Given the description of an element on the screen output the (x, y) to click on. 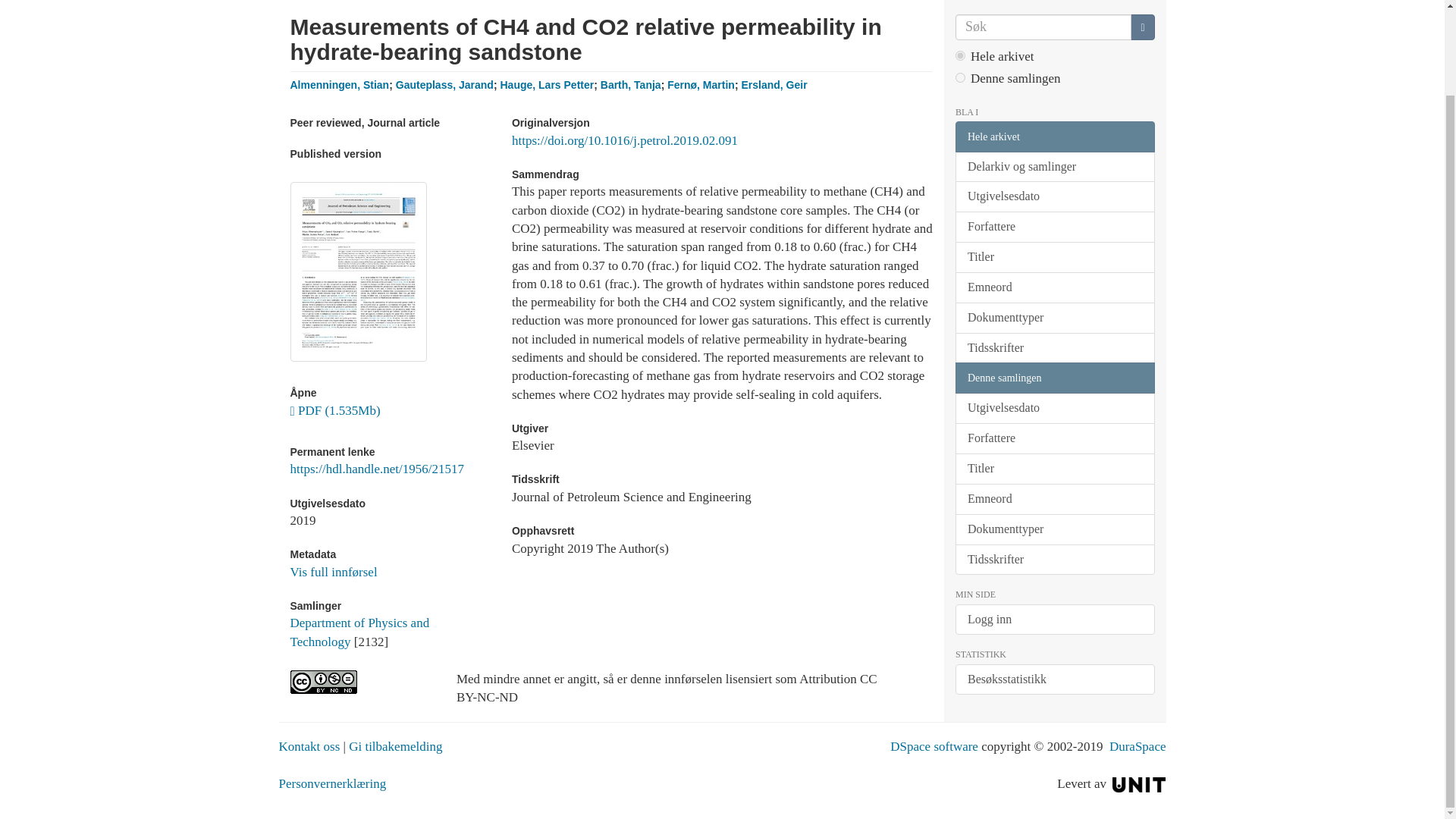
Barth, Tanja (630, 84)
Almenningen, Stian (338, 84)
Ersland, Geir (773, 84)
Department of Physics and Technology (359, 631)
Hauge, Lars Petter (546, 84)
Unit (1139, 783)
Gauteplass, Jarand (444, 84)
Attribution CC BY-NC-ND (360, 681)
